Given the description of an element on the screen output the (x, y) to click on. 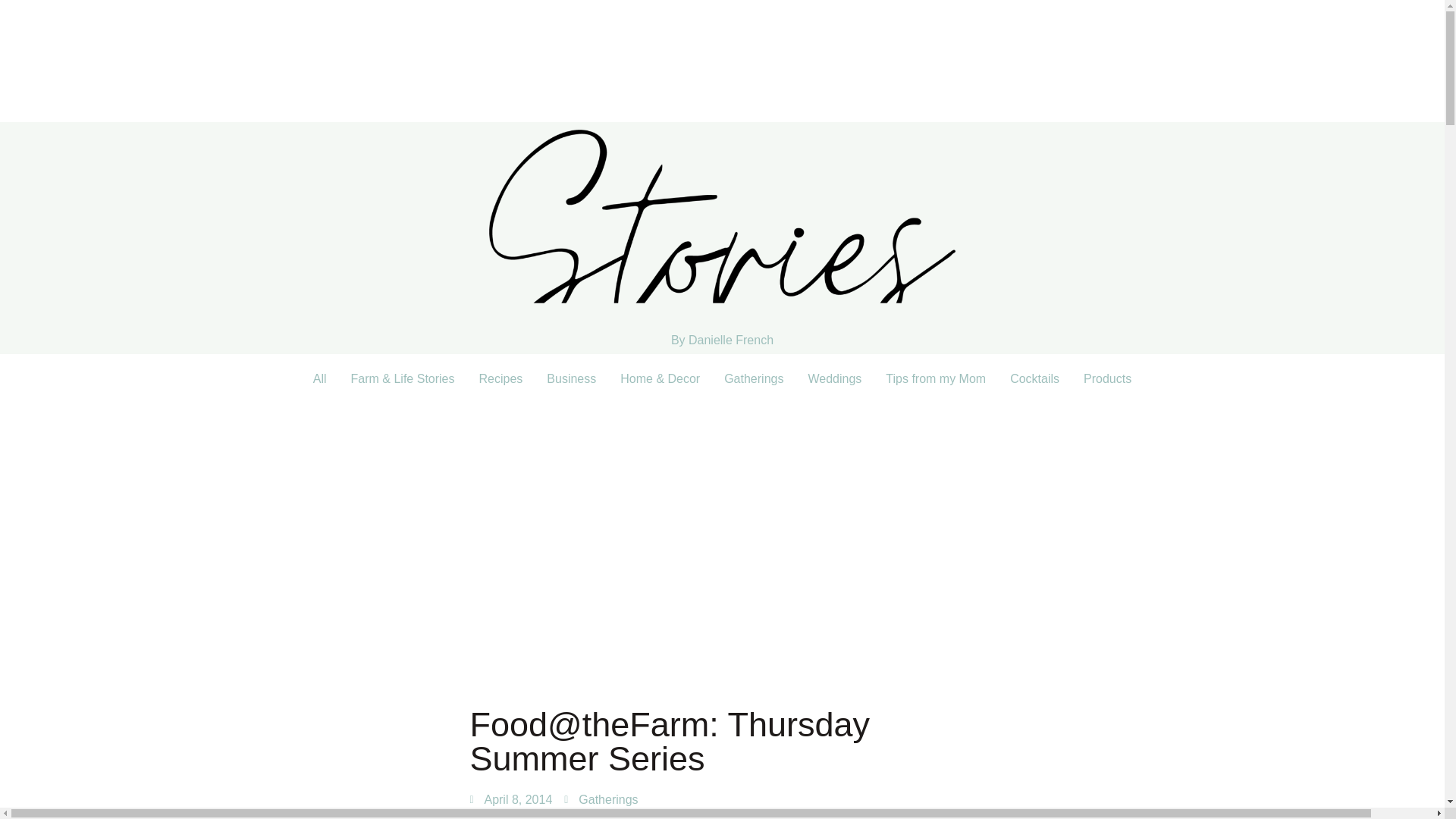
Recipes (501, 378)
Weddings (833, 378)
Cocktails (1034, 378)
Products (1106, 378)
Tips from my Mom (935, 378)
Business (571, 378)
All (320, 378)
Gatherings (752, 378)
